Given the description of an element on the screen output the (x, y) to click on. 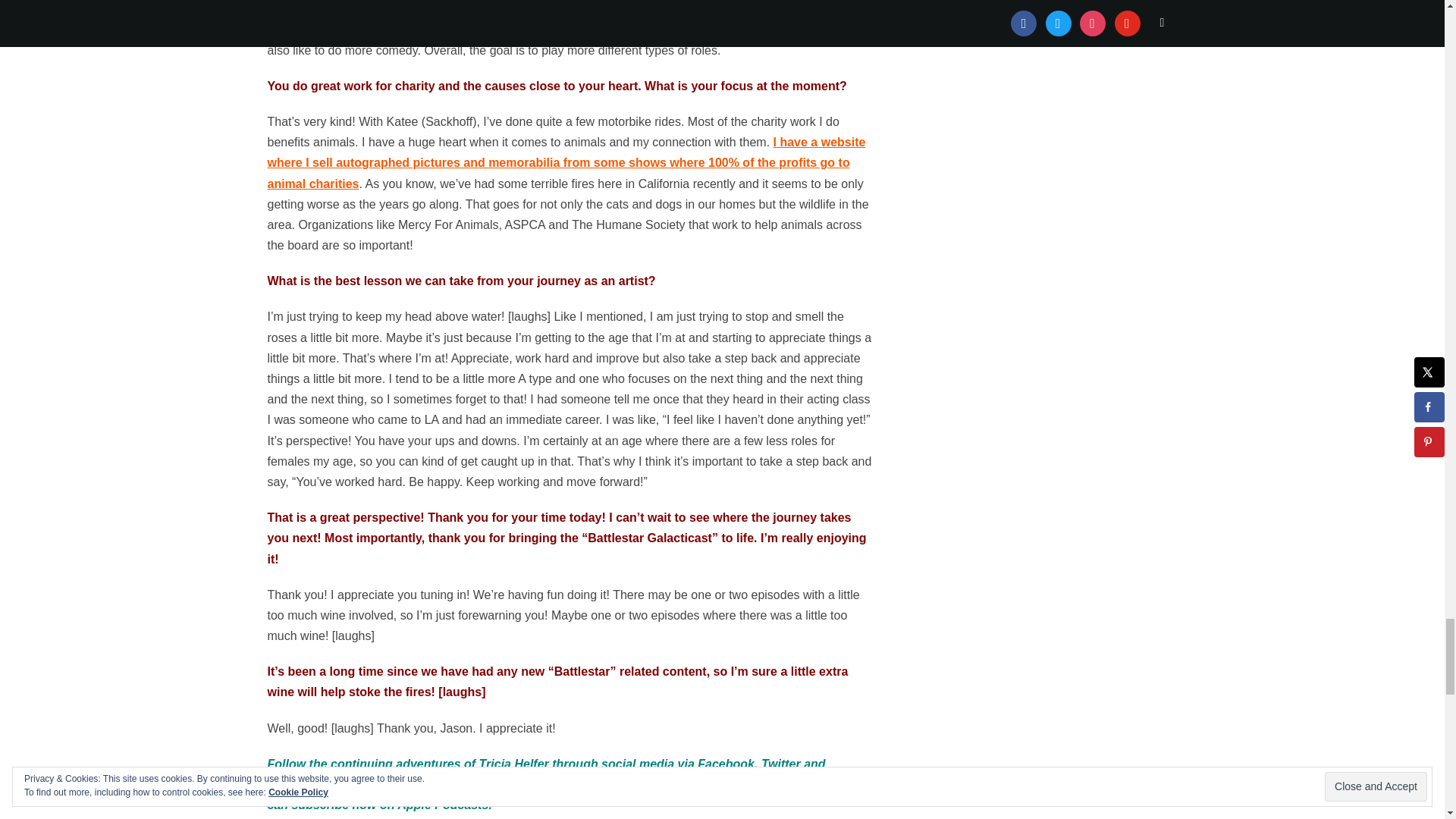
Facebook (725, 763)
